Given the description of an element on the screen output the (x, y) to click on. 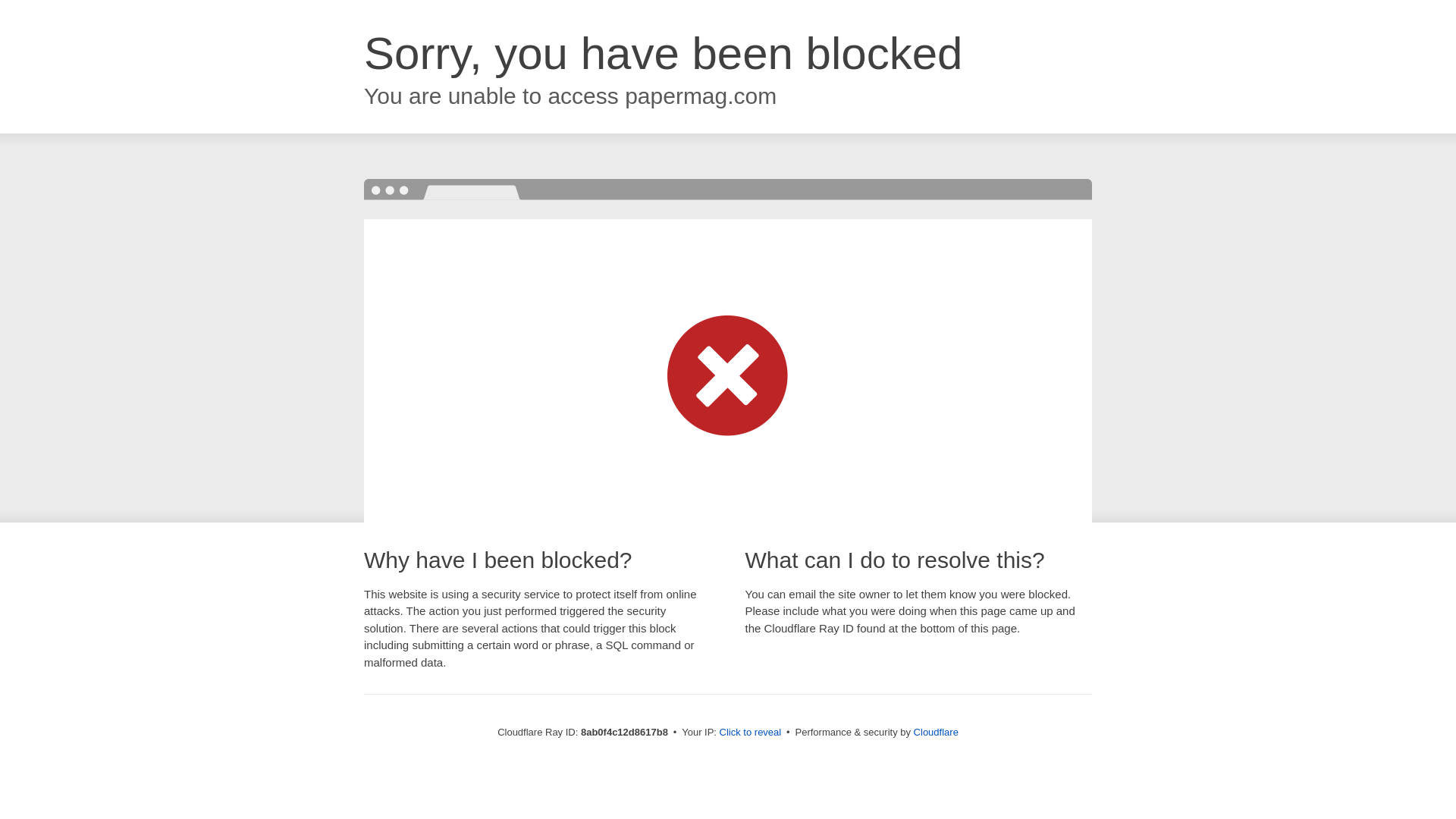
Click to reveal (750, 732)
Cloudflare (936, 731)
